Given the description of an element on the screen output the (x, y) to click on. 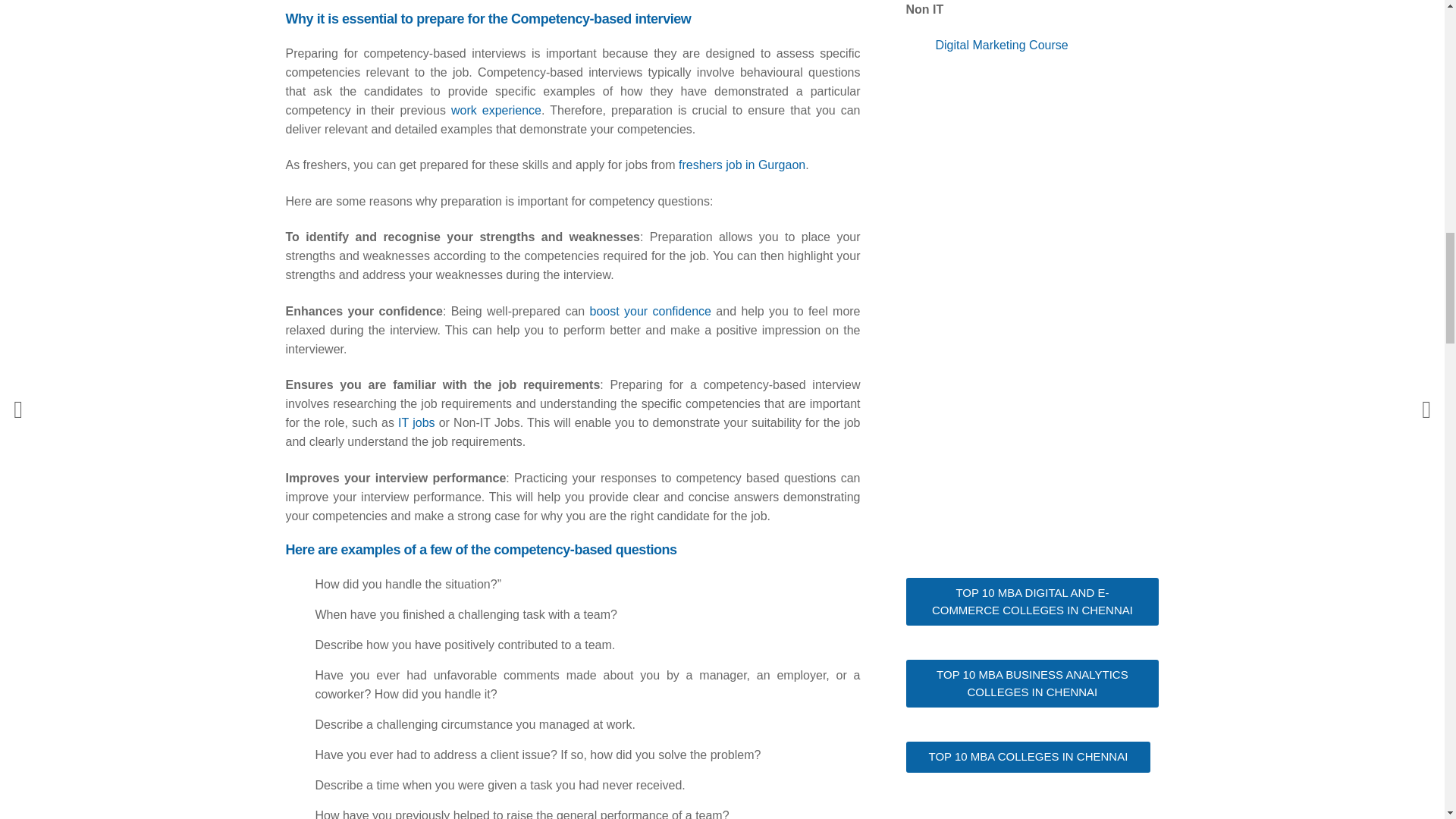
work experience (496, 110)
boost your confidence (650, 310)
IT jobs (415, 422)
freshers job in Gurgaon (741, 164)
